Given the description of an element on the screen output the (x, y) to click on. 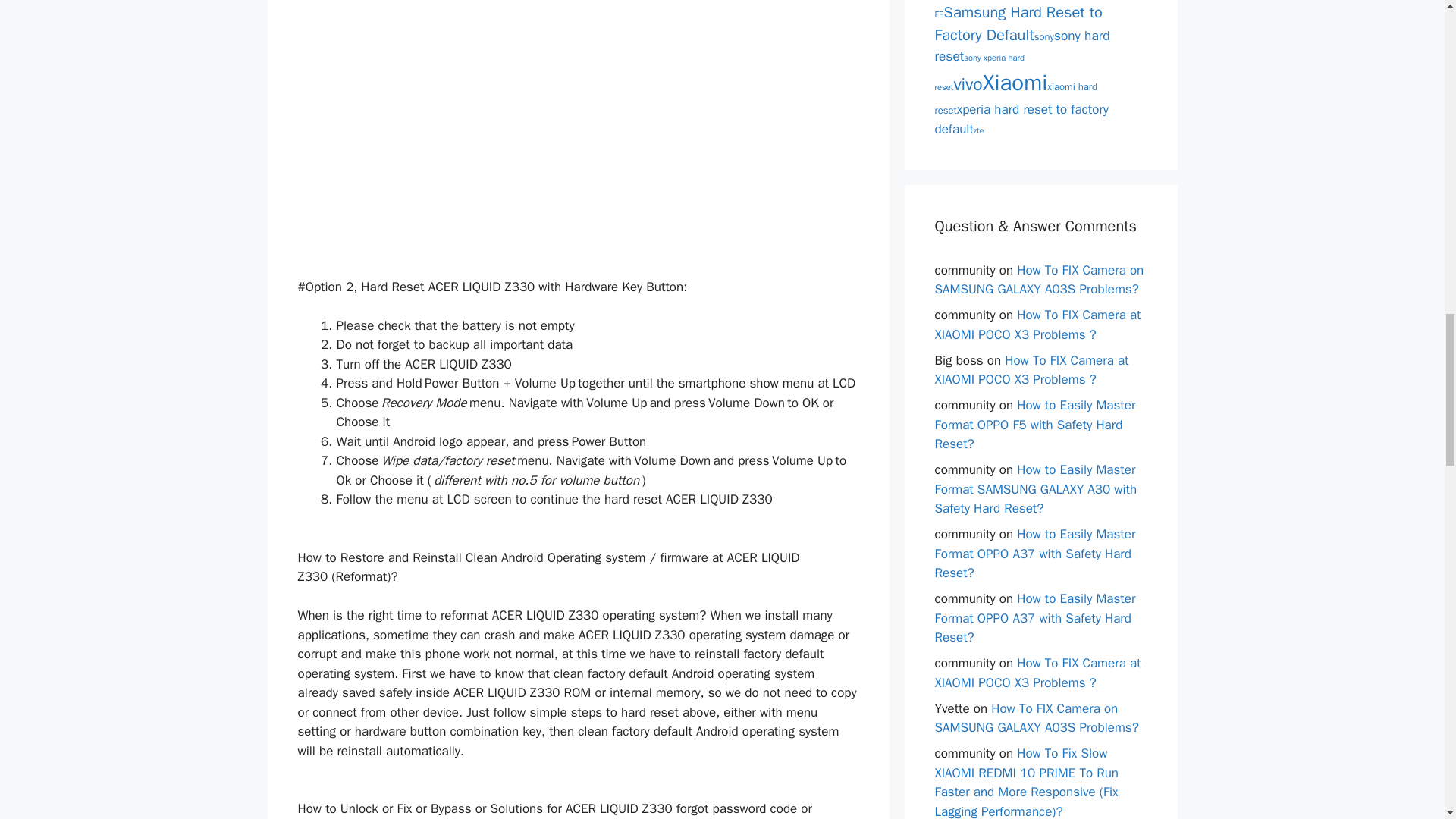
hard reset acer liquid z330 (453, 116)
